Given the description of an element on the screen output the (x, y) to click on. 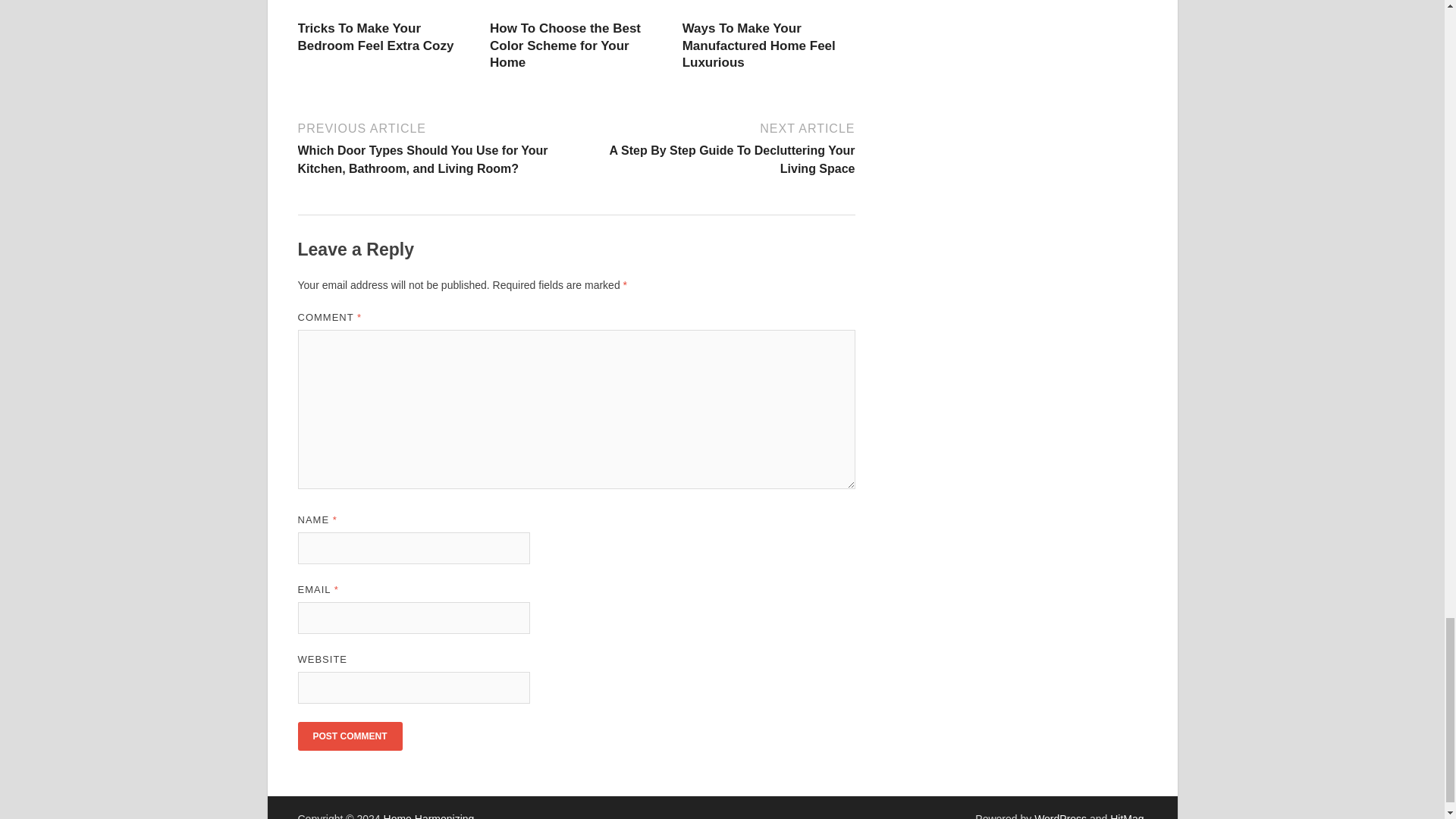
Tricks To Make Your Bedroom Feel Extra Cozy (374, 36)
Post Comment (349, 736)
Ways To Make Your Manufactured Home Feel Luxurious (758, 44)
How To Choose the Best Color Scheme for Your Home (564, 44)
